Given the description of an element on the screen output the (x, y) to click on. 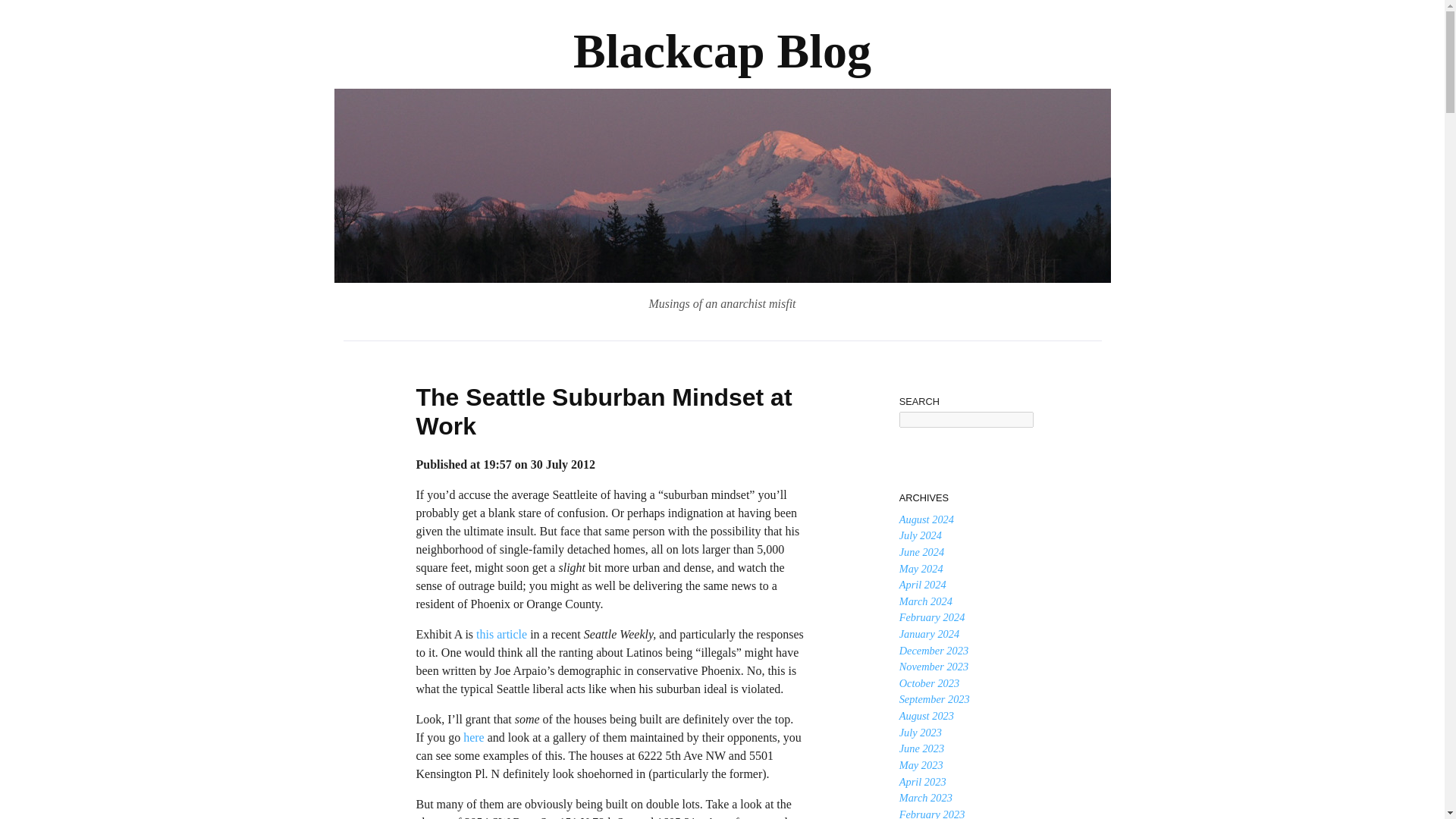
Search (21, 7)
here (473, 737)
May 2024 (921, 568)
The Seattle Suburban Mindset at Work (603, 411)
this article (501, 634)
Blackcap Blog (721, 50)
June 2024 (921, 551)
August 2024 (926, 519)
July 2024 (920, 535)
